Given the description of an element on the screen output the (x, y) to click on. 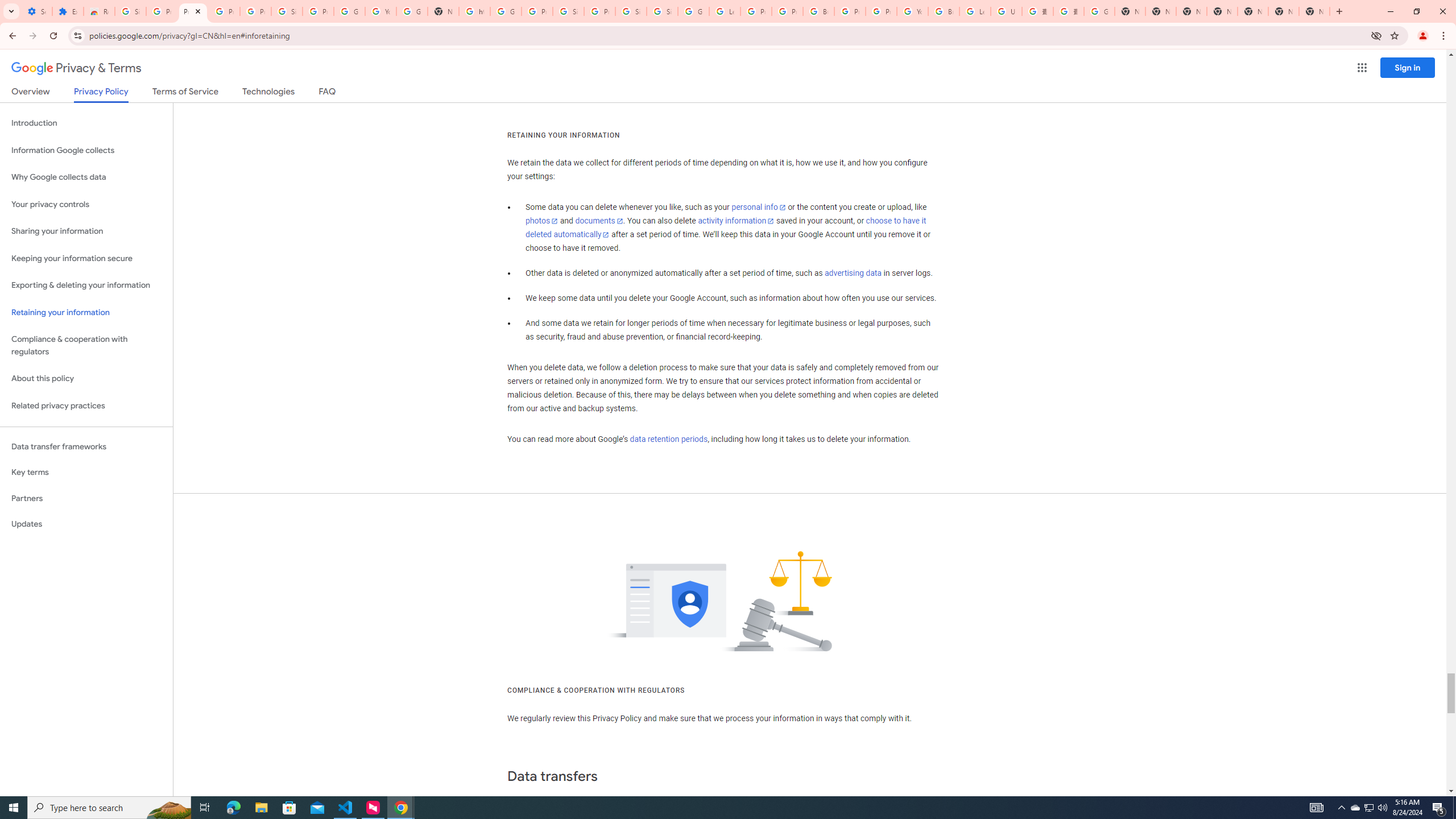
Partners (86, 497)
Exporting & deleting your information (86, 284)
Sign in - Google Accounts (631, 11)
Sign in - Google Accounts (568, 11)
Privacy Help Center - Policies Help (756, 11)
